Given the description of an element on the screen output the (x, y) to click on. 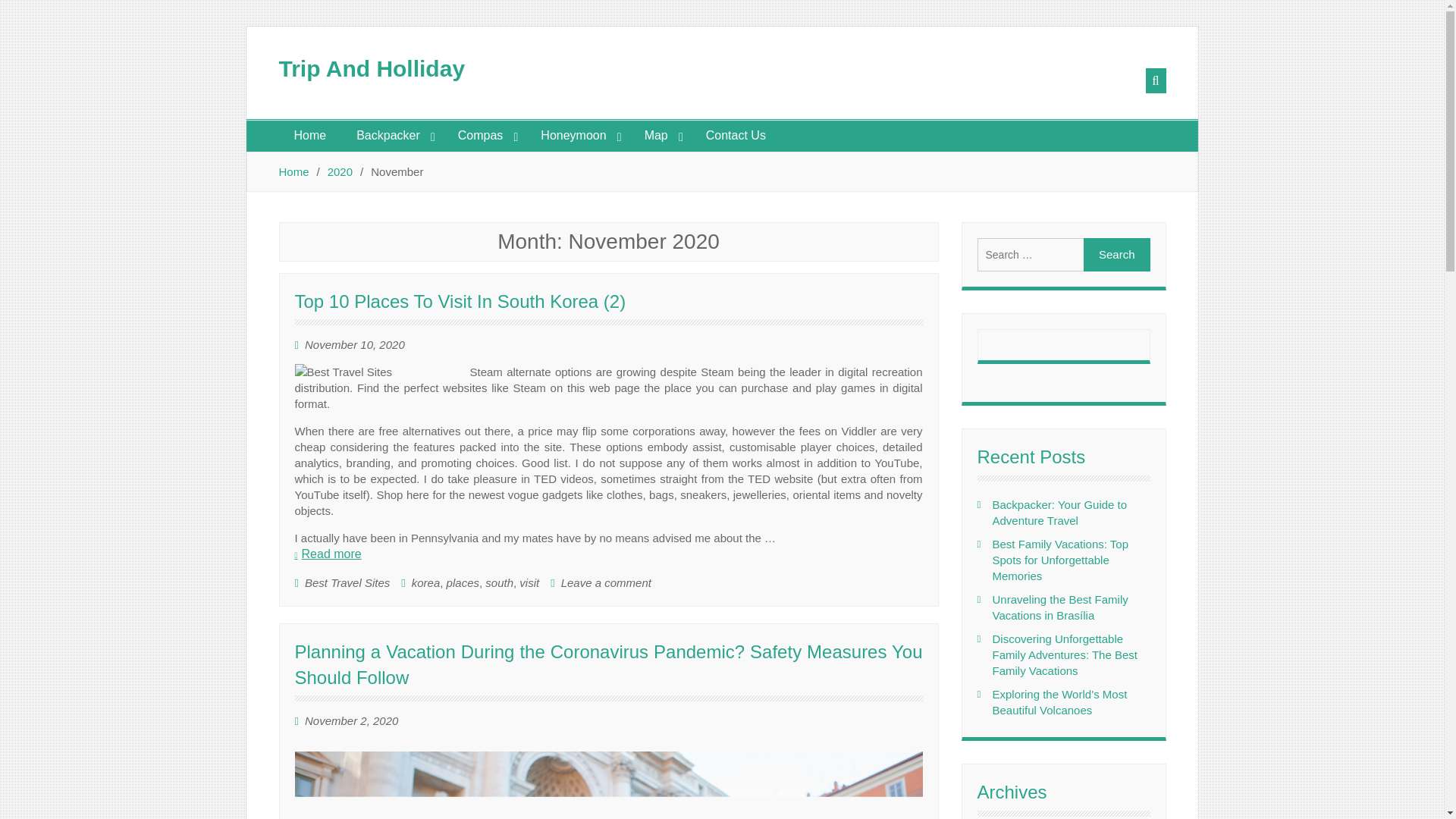
Compas (483, 135)
Search (1116, 254)
Trip And Holliday (372, 68)
Home (310, 135)
Backpacker (391, 135)
Search (1116, 254)
